Given the description of an element on the screen output the (x, y) to click on. 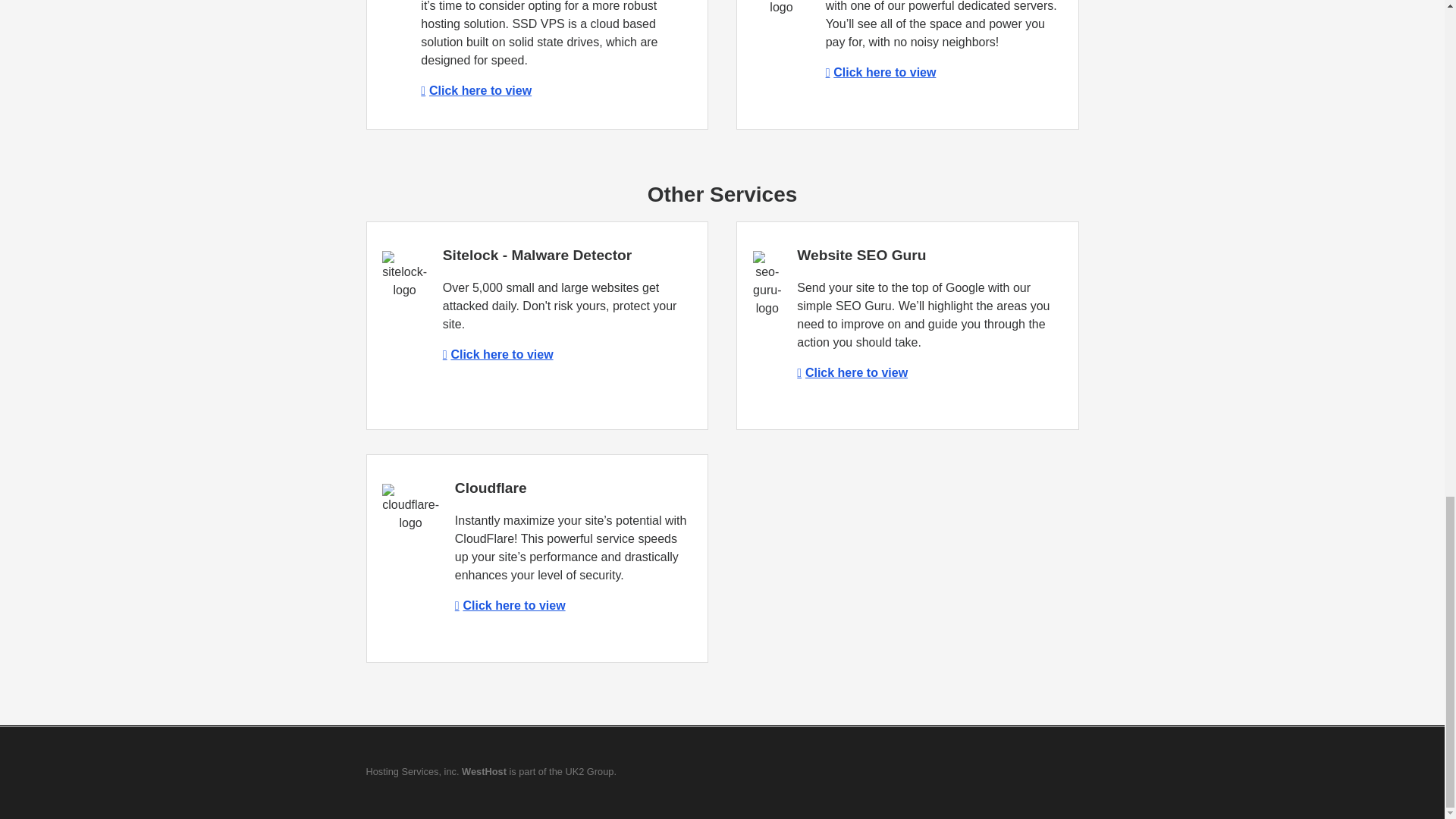
Click here to view (497, 354)
Click here to view (510, 604)
Click here to view (880, 72)
Click here to view (851, 372)
WestHost (483, 771)
Click here to view (475, 90)
